Given the description of an element on the screen output the (x, y) to click on. 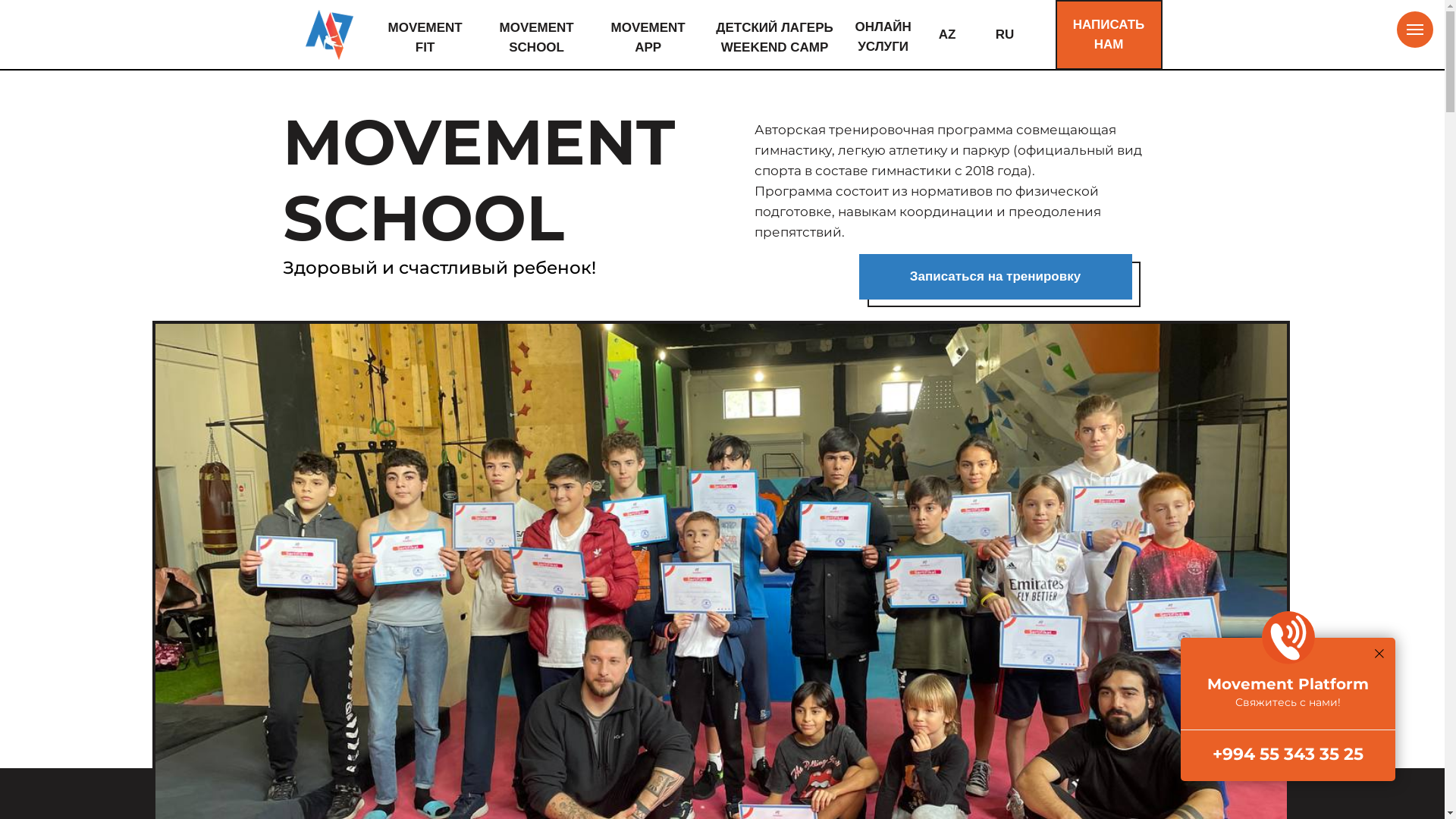
MOVEMENT APP Element type: text (647, 38)
MOVEMENT SCHOOL Element type: text (536, 38)
RU Element type: text (1004, 34)
MOVEMENT FIT Element type: text (424, 38)
+994 55 343 35 25 Element type: text (1287, 754)
AZ Element type: text (947, 34)
